Given the description of an element on the screen output the (x, y) to click on. 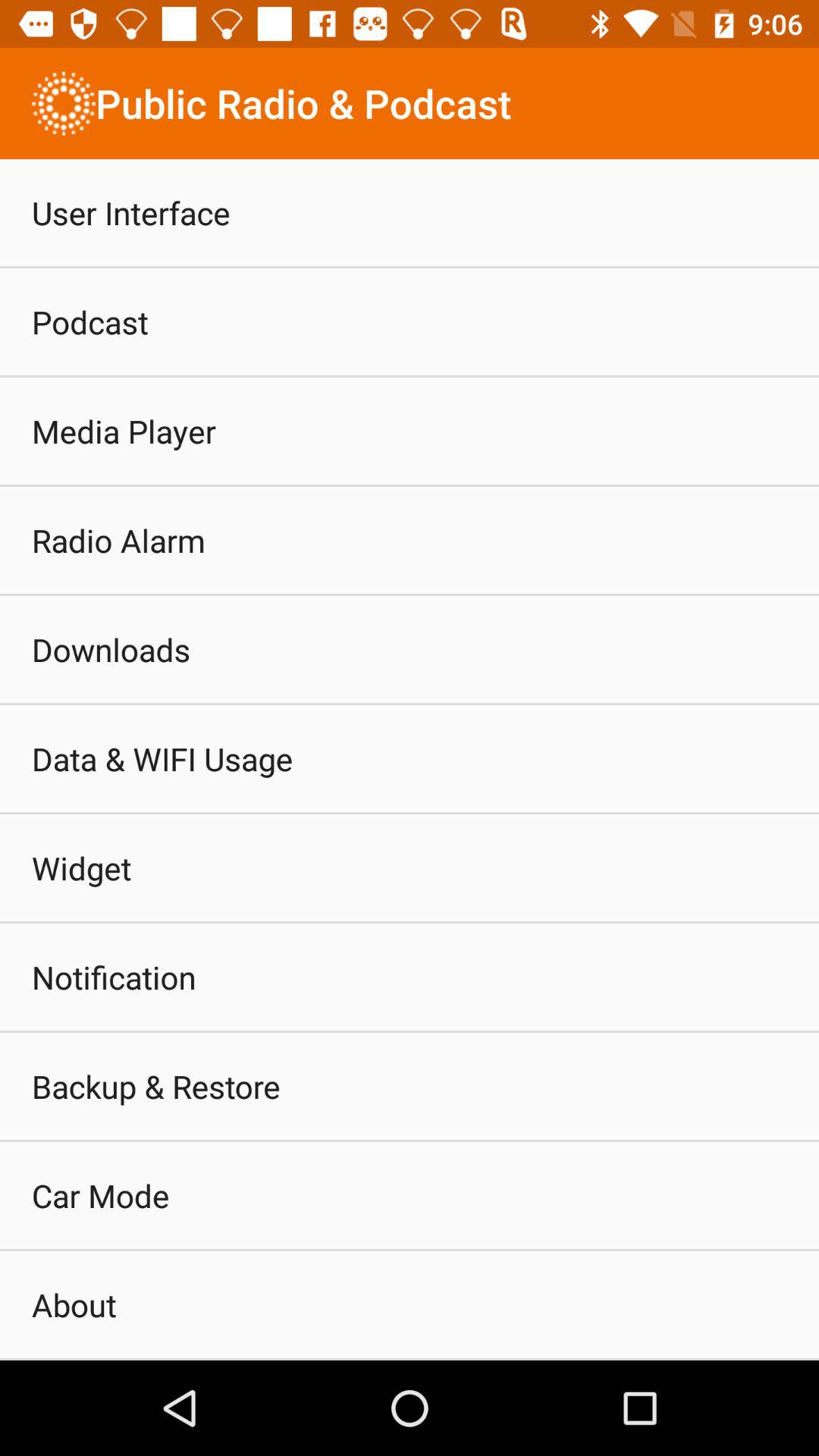
jump until the radio alarm app (118, 539)
